Given the description of an element on the screen output the (x, y) to click on. 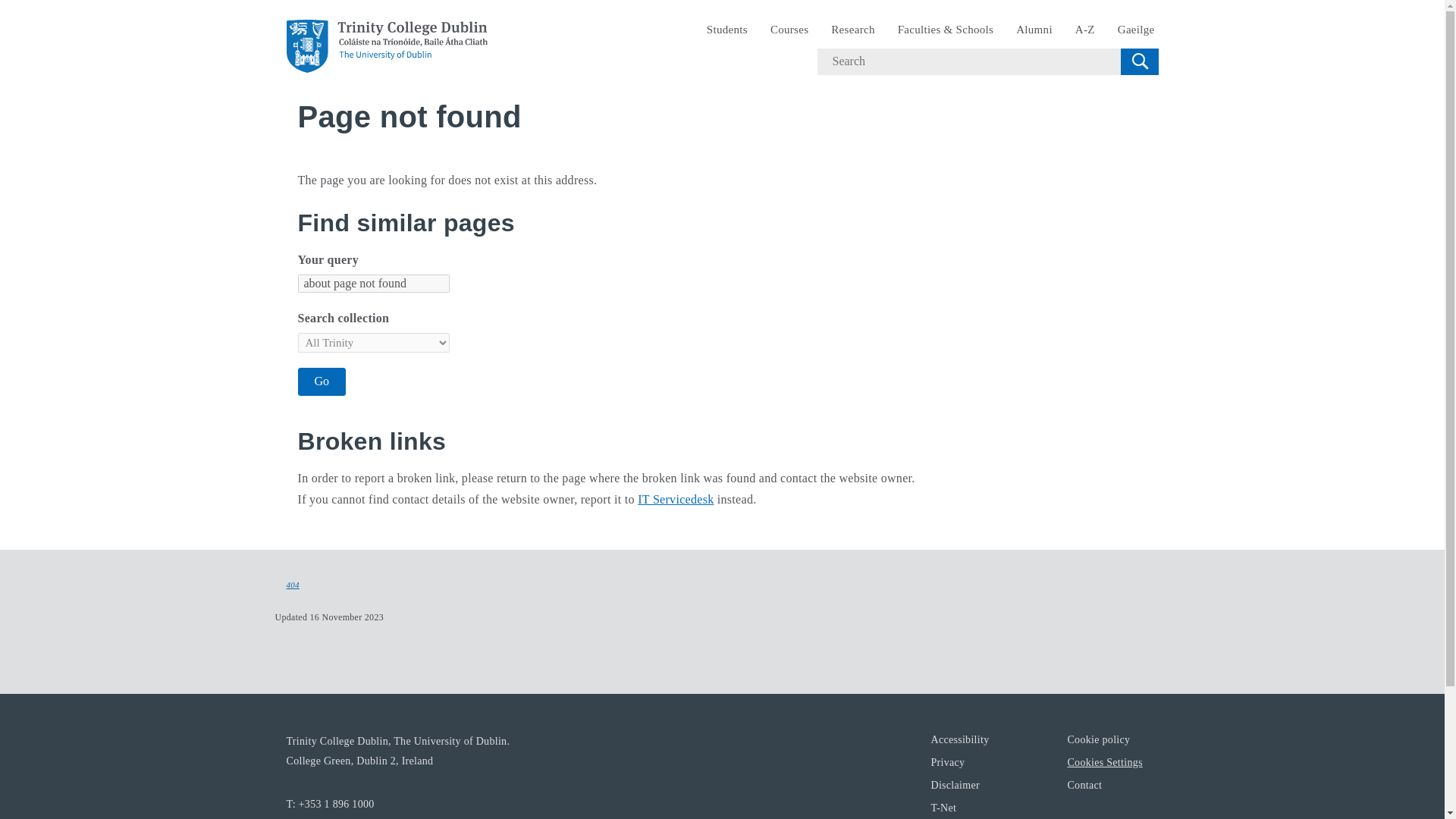
Students (727, 29)
T-Net (943, 807)
Courses (789, 29)
Privacy (946, 761)
 about page not found  (372, 283)
Cookie policy (1098, 738)
Alumni (1034, 29)
Research (852, 29)
404 (292, 584)
Cookies Settings (1104, 761)
Disclaimer (954, 784)
A-Z (1085, 29)
Contact (1084, 784)
 about page not found  (372, 283)
Accessibility (959, 738)
